Given the description of an element on the screen output the (x, y) to click on. 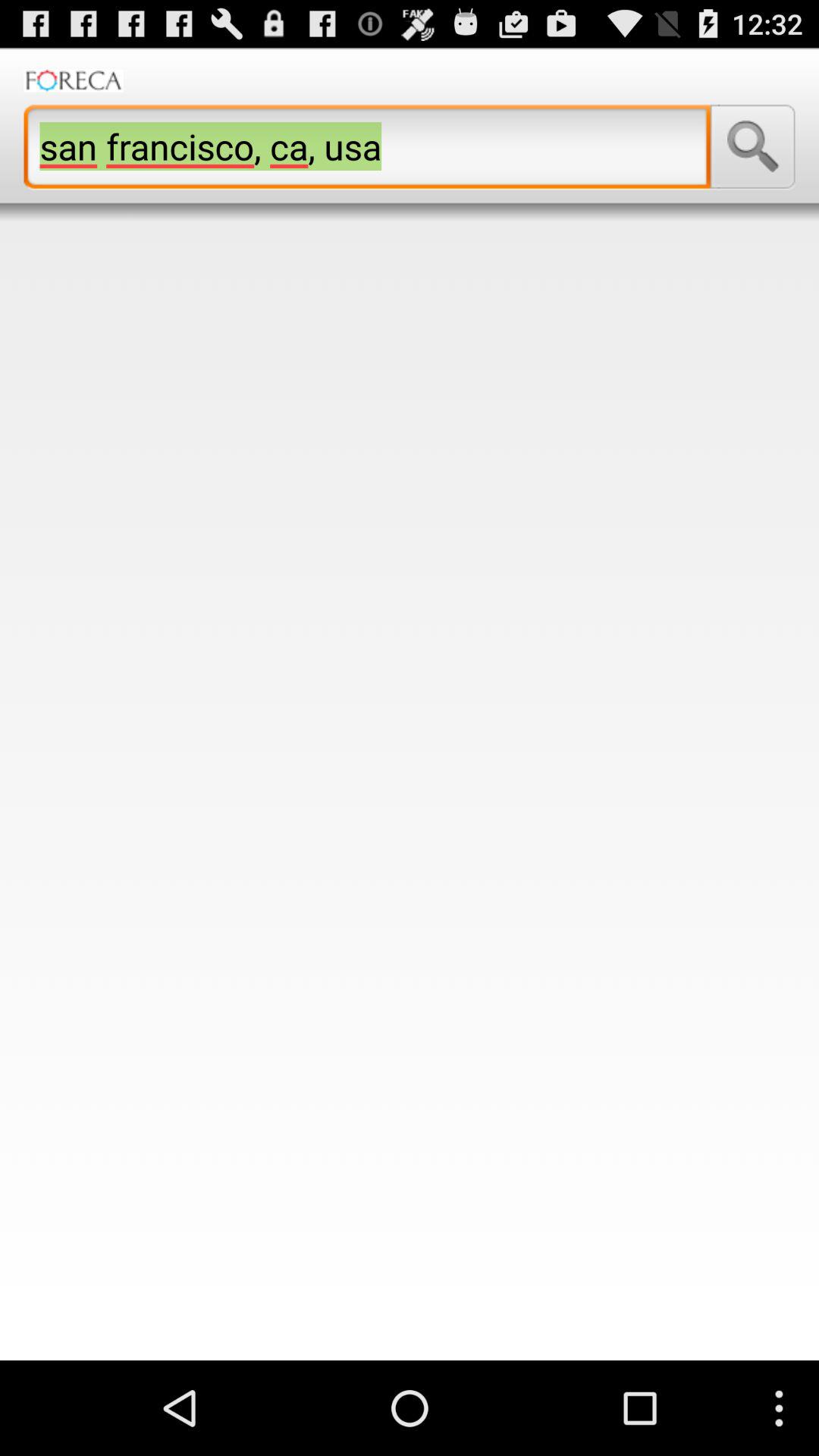
press the item next to san francisco ca icon (752, 146)
